Given the description of an element on the screen output the (x, y) to click on. 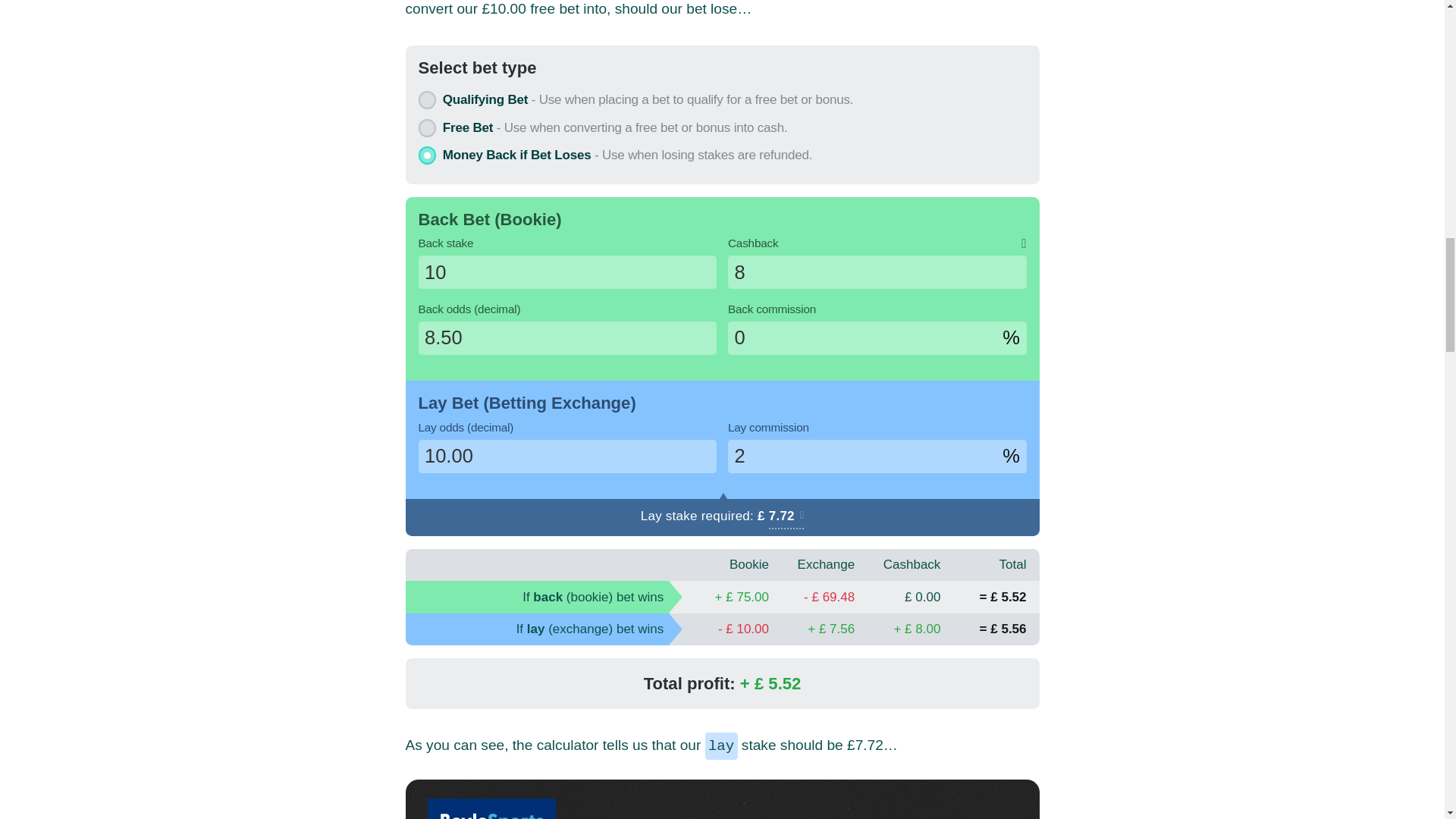
10 (568, 272)
10.00 (568, 456)
2 (861, 456)
8.50 (568, 337)
8 (877, 272)
0 (861, 337)
